Given the description of an element on the screen output the (x, y) to click on. 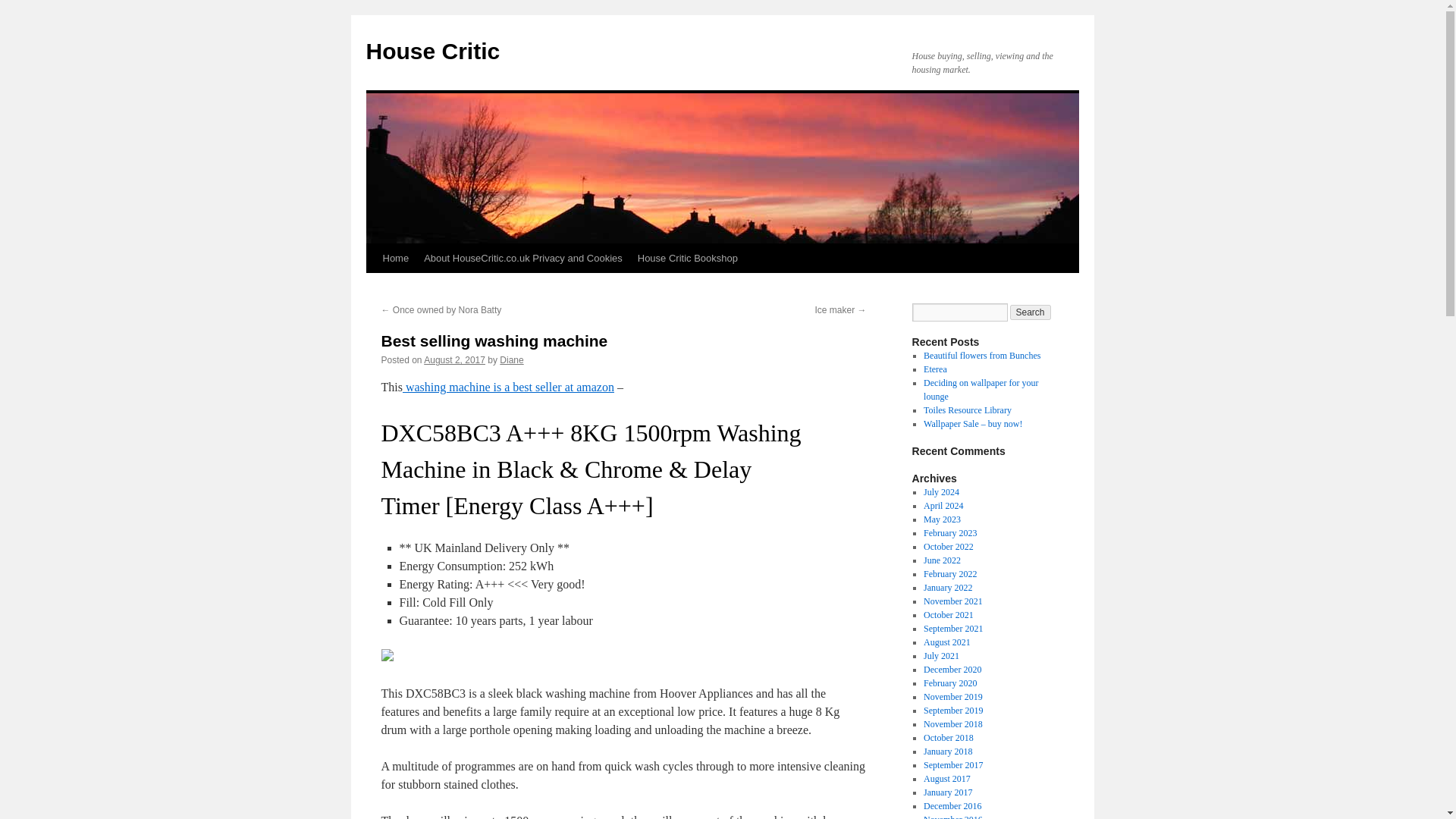
Toiles Resource Library (967, 409)
House Critic (432, 50)
Search (1030, 312)
View all posts by Diane (510, 359)
December 2020 (952, 669)
washing machine is a best seller at amazon (508, 386)
January 2022 (947, 587)
September 2021 (952, 628)
July 2024 (941, 491)
Search (1030, 312)
June 2022 (941, 560)
Deciding on wallpaper for your lounge (980, 389)
2:57 pm (453, 359)
November 2019 (952, 696)
May 2023 (941, 519)
